Given the description of an element on the screen output the (x, y) to click on. 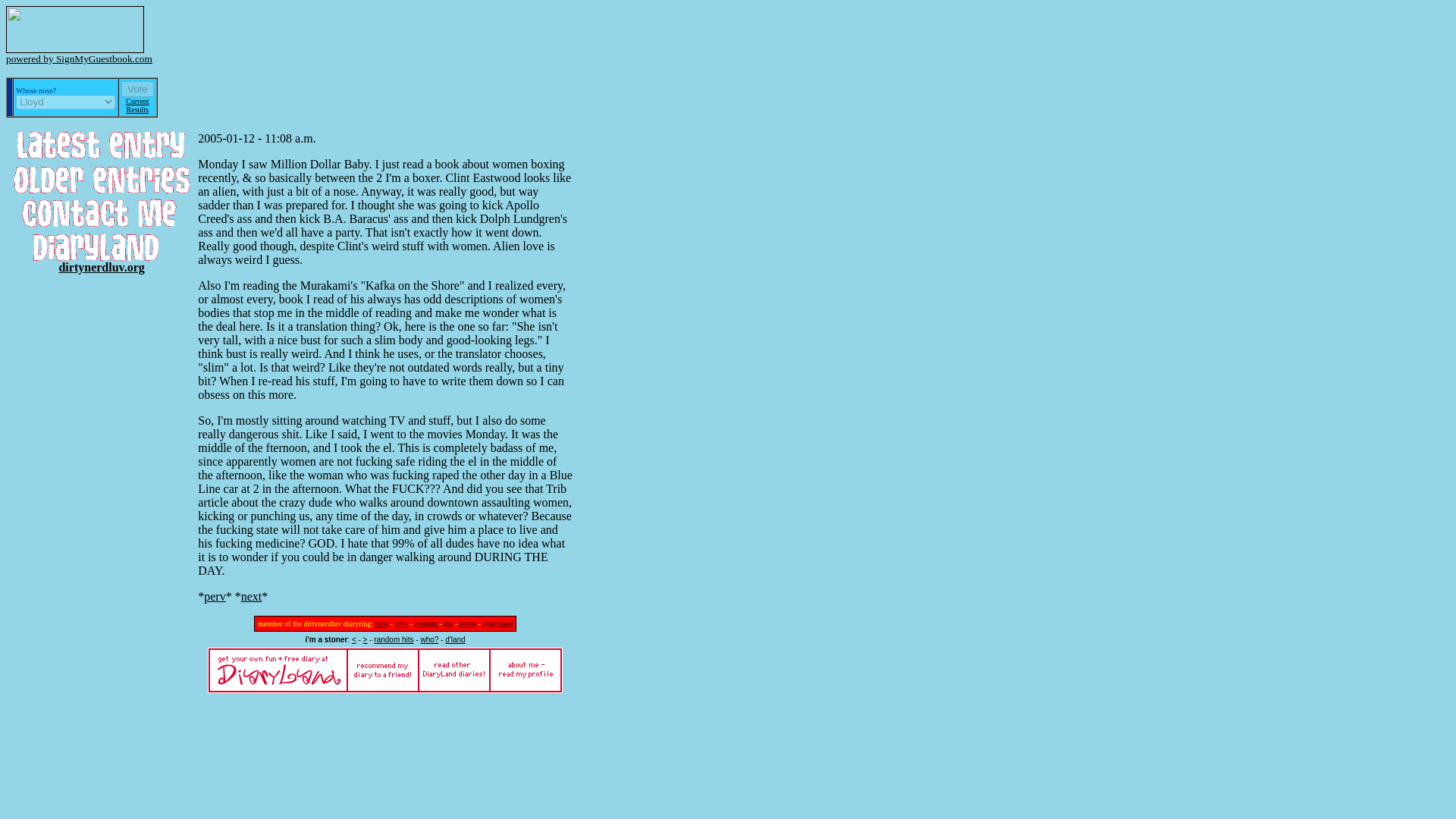
Diaryland (496, 623)
Vote (137, 89)
Current Results (137, 105)
powered by SignMyGuestbook.com (78, 57)
dirtynerdluv.org (101, 267)
list (448, 623)
home (468, 623)
next (381, 623)
perv (214, 595)
next (251, 595)
d'land (454, 639)
Vote (137, 89)
prev (400, 623)
random (425, 623)
random hits (393, 639)
